Given the description of an element on the screen output the (x, y) to click on. 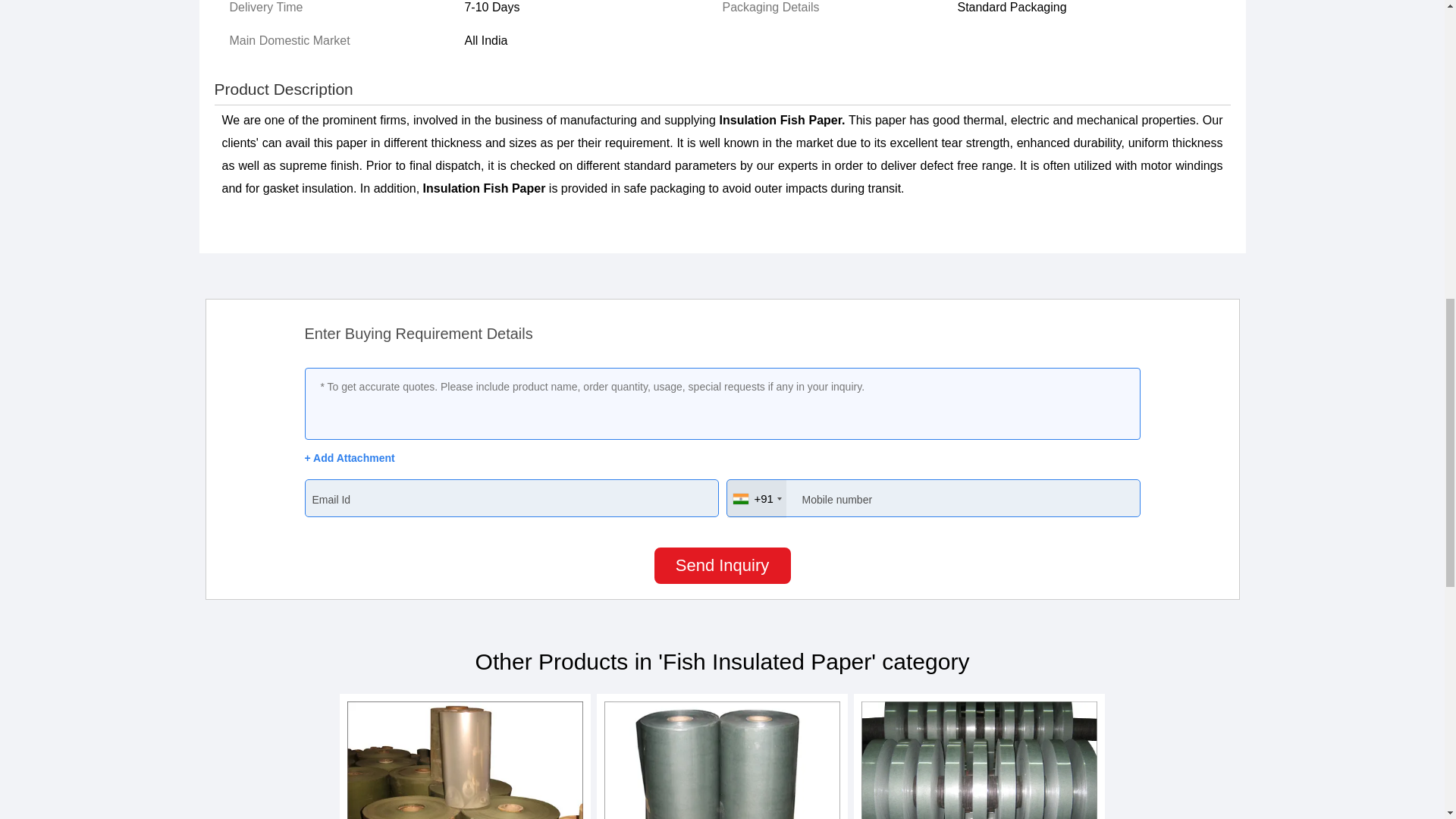
Send Inquiry (721, 565)
